Given the description of an element on the screen output the (x, y) to click on. 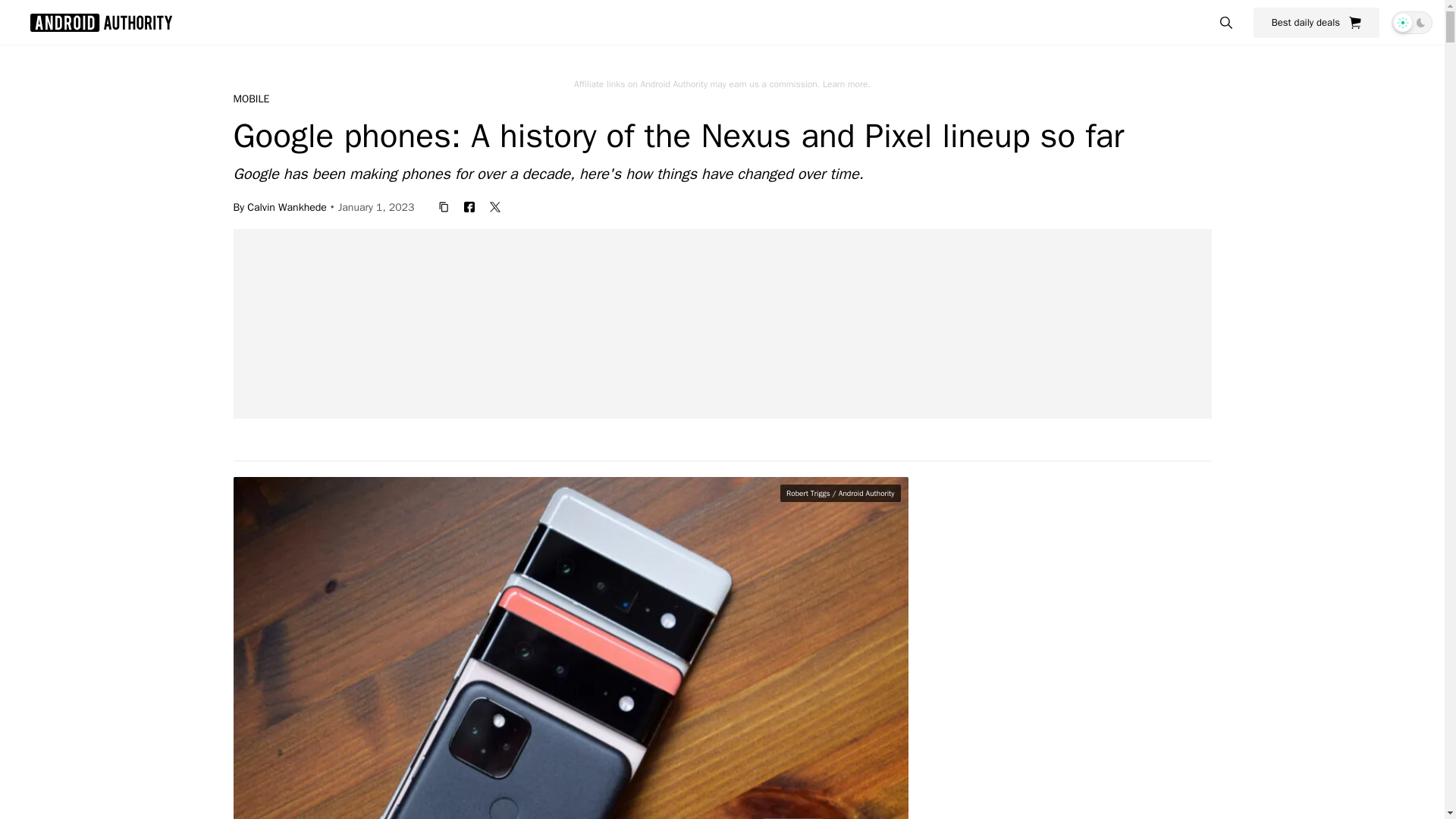
twitter (494, 207)
MOBILE (250, 98)
Best daily deals (1315, 22)
Calvin Wankhede (286, 206)
facebook (469, 207)
Learn more. (846, 83)
